Given the description of an element on the screen output the (x, y) to click on. 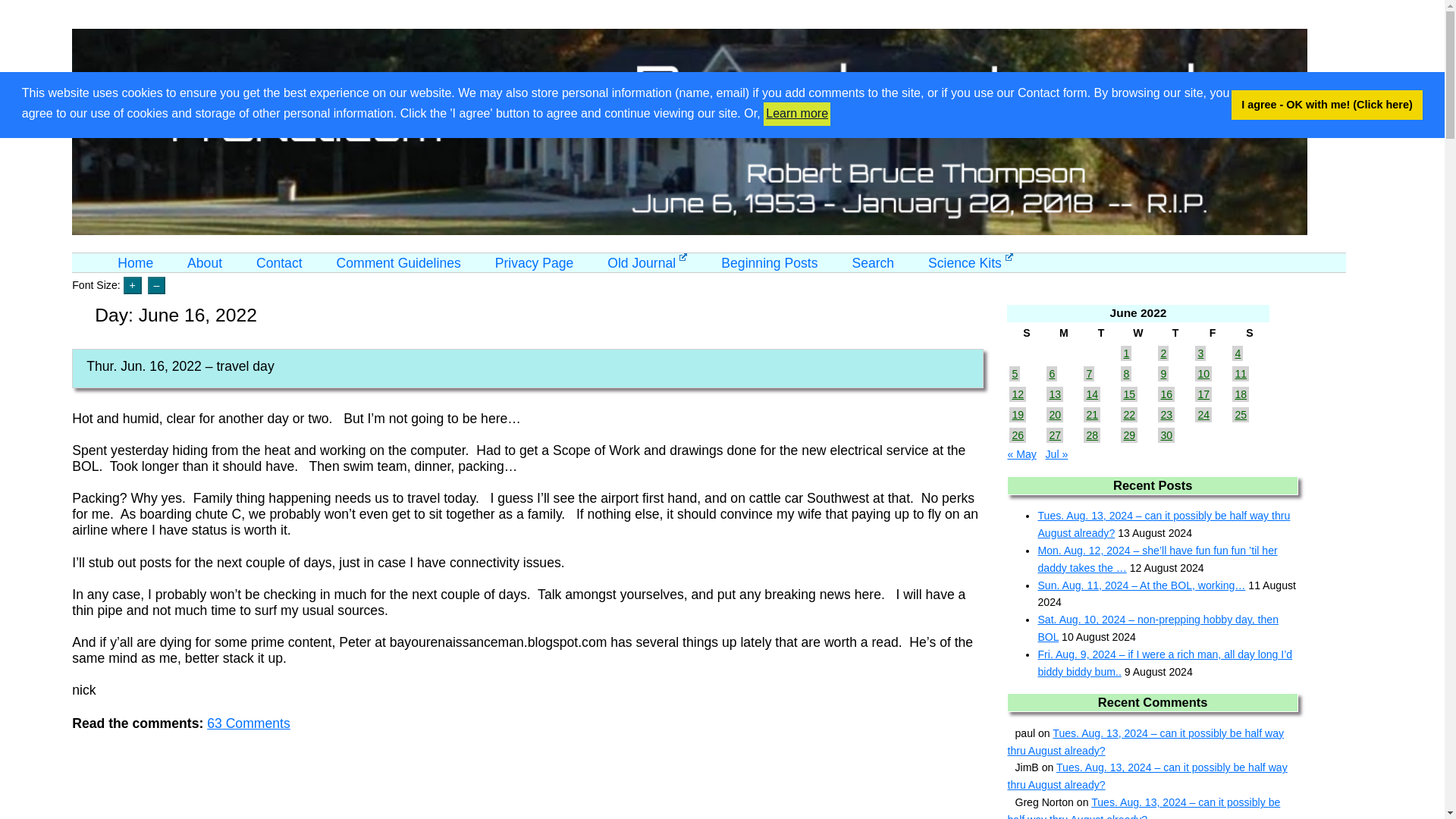
10 (1203, 373)
25 (1240, 414)
24 (1203, 414)
Sunday (1026, 333)
23 (1165, 414)
20 (1054, 414)
Wednesday (1137, 333)
22 (1129, 414)
Search (872, 263)
16 (1165, 394)
